Given the description of an element on the screen output the (x, y) to click on. 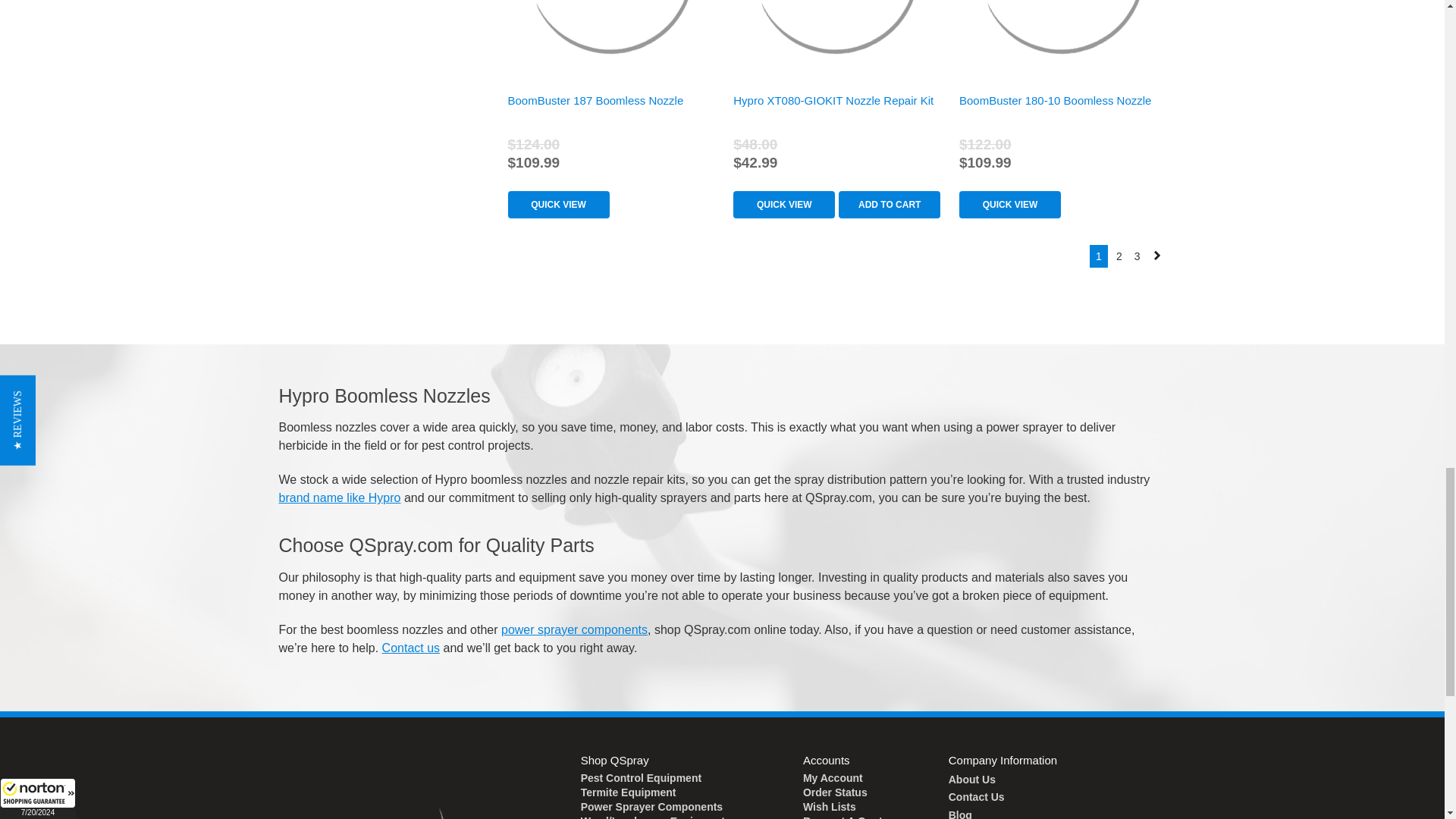
BoomBuster 265 Boomless Nozzle (609, 36)
QSpray.com (377, 783)
Hypro XT080-GIOKIT Nozzle Repair Kit (835, 36)
BoomBuster 180-10 Boomless Nozzle (1061, 36)
